Given the description of an element on the screen output the (x, y) to click on. 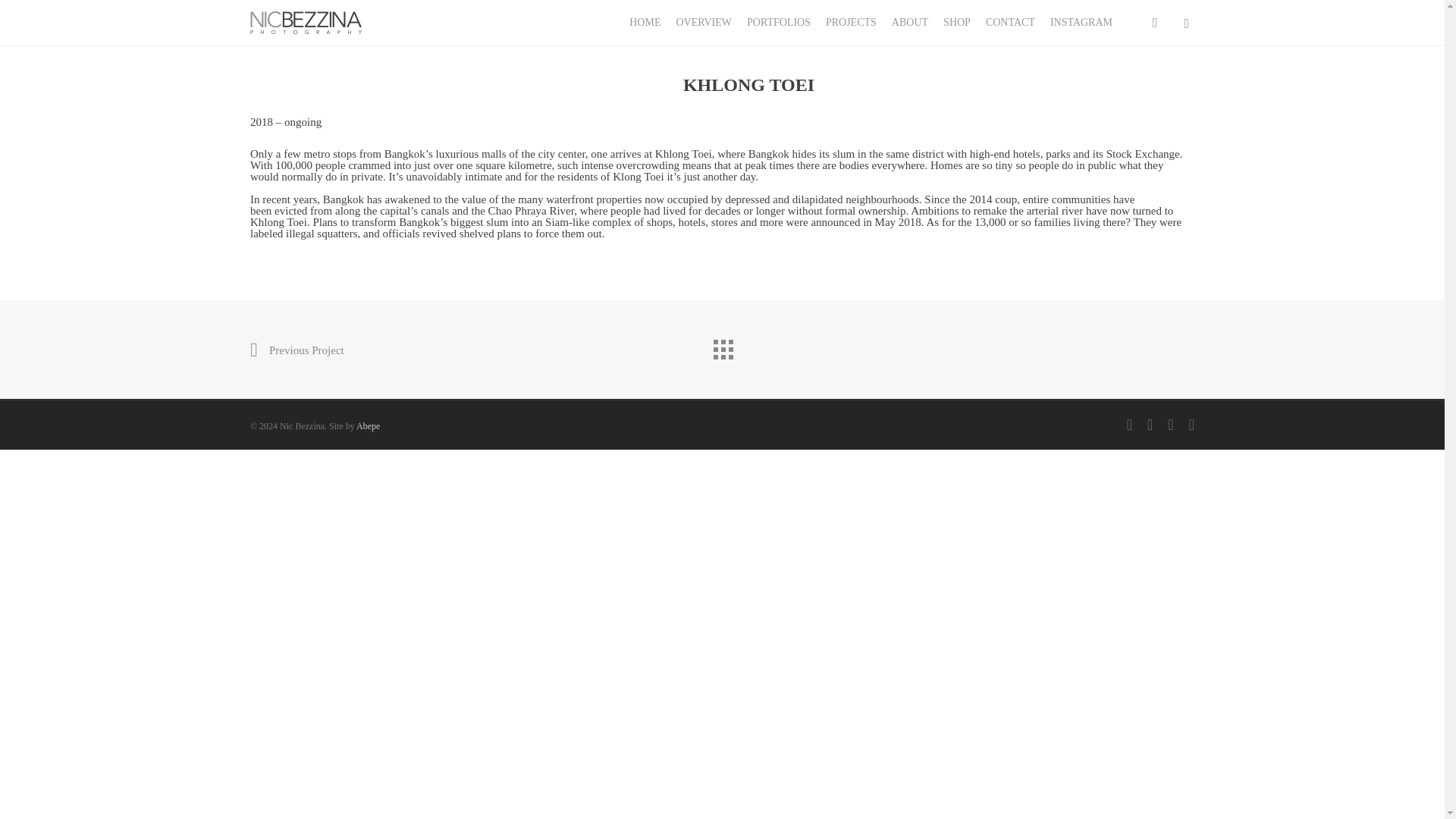
search (1154, 22)
SHOP (957, 22)
Previous Project (296, 350)
Abepe (368, 425)
PORTFOLIOS (778, 22)
HOME (644, 22)
ABOUT (909, 22)
INSTAGRAM (1080, 22)
PROJECTS (850, 22)
Back to all projects (721, 345)
